Given the description of an element on the screen output the (x, y) to click on. 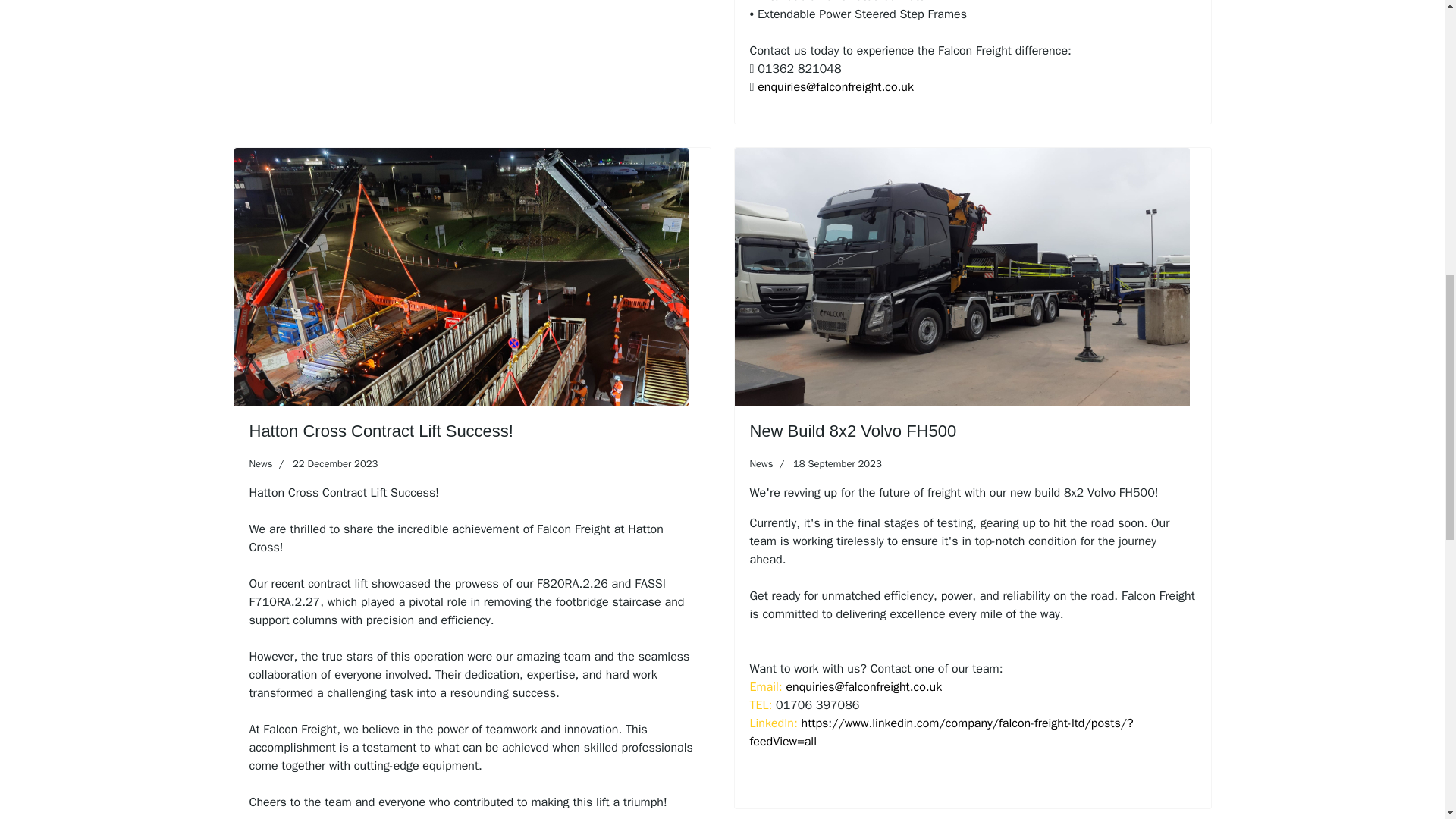
New Build 8x2 Volvo FH500 (852, 430)
Published: 18 September 2023 (826, 463)
Category: News (260, 463)
Hatton Cross Contract Lift Success! (380, 430)
Published: 22 December 2023 (324, 463)
News (761, 463)
Category: News (761, 463)
News (260, 463)
